Given the description of an element on the screen output the (x, y) to click on. 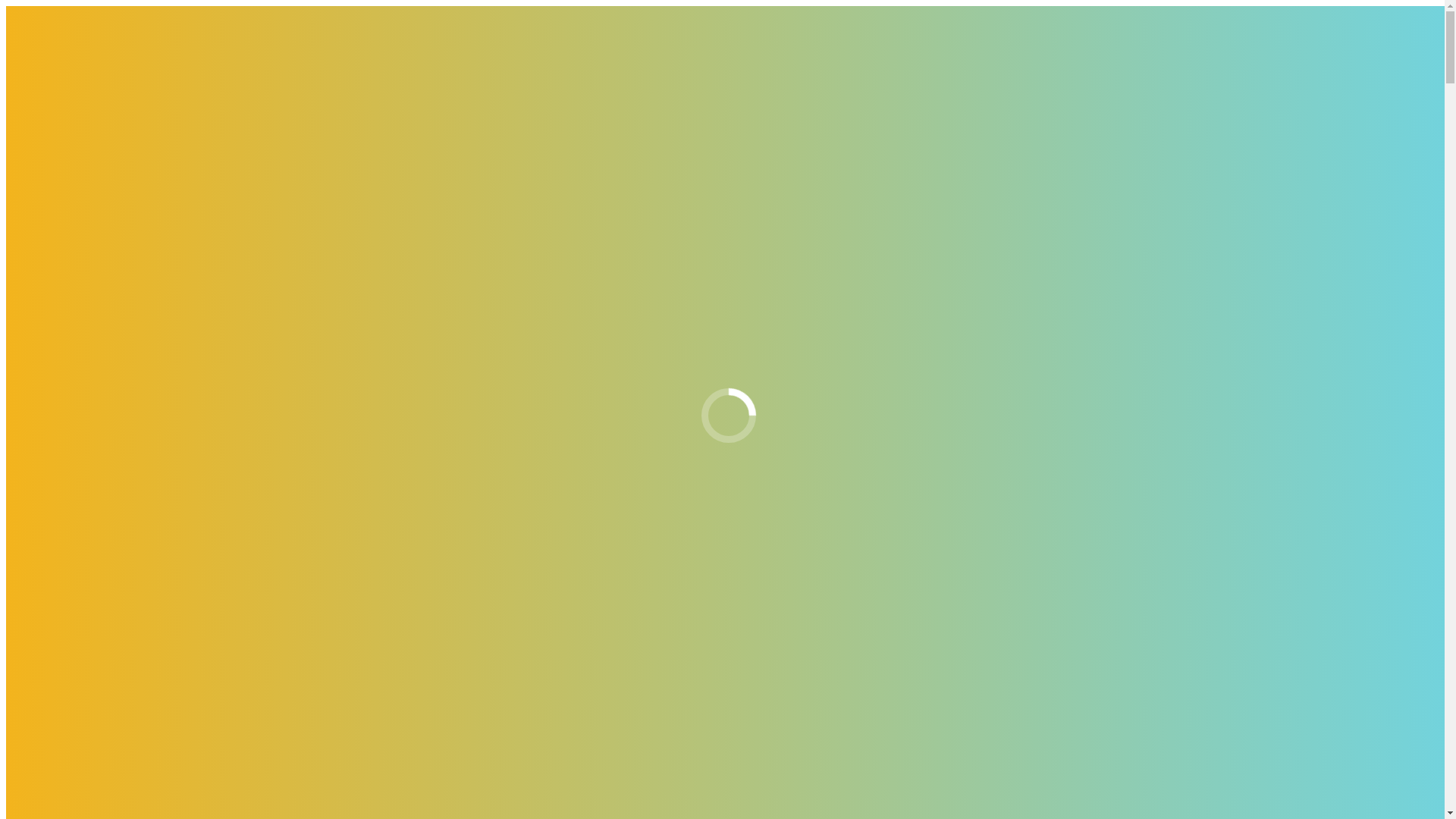
Login (81, 483)
Giveaways (63, 388)
ArtLand Pins (129, 265)
View Cart (30, 51)
Charms (116, 319)
Profile (52, 470)
Checkout (78, 51)
Instagram page opens in new window (97, 103)
Search form (72, 593)
Registration (95, 497)
